Given the description of an element on the screen output the (x, y) to click on. 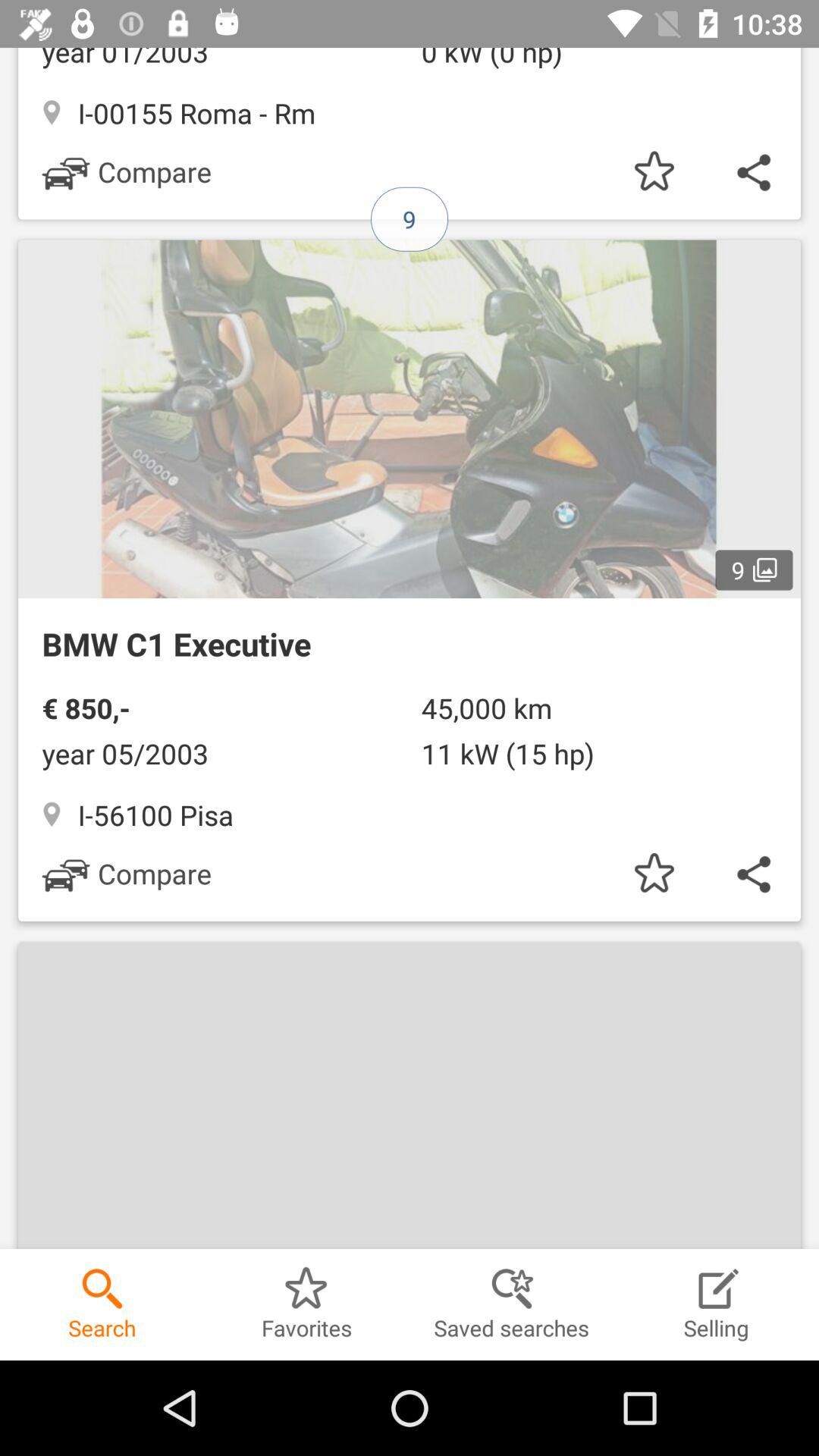
click on the image which is bmw c1 executive (409, 572)
